Given the description of an element on the screen output the (x, y) to click on. 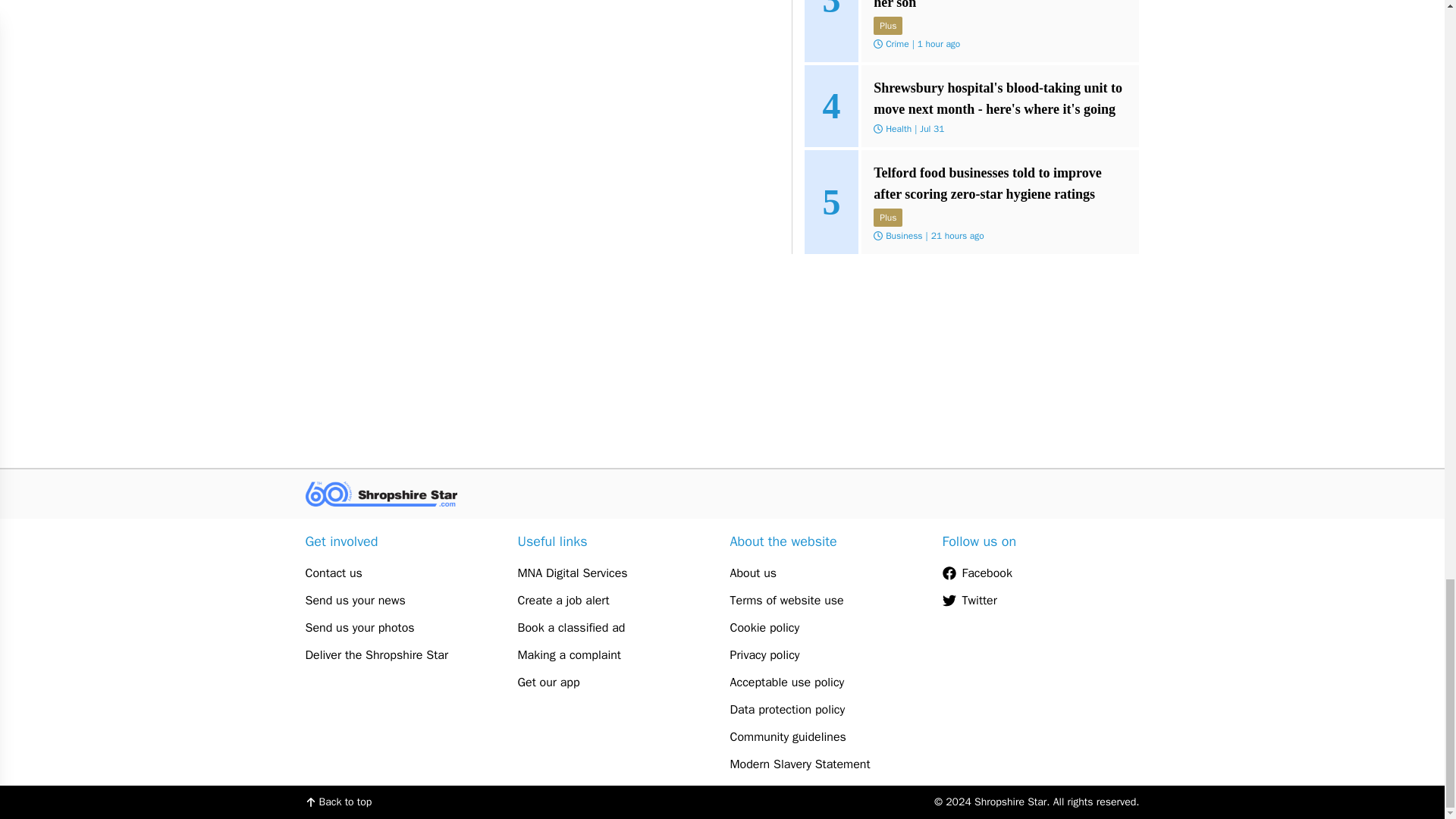
Health (898, 128)
Crime (896, 42)
Business (903, 235)
